Given the description of an element on the screen output the (x, y) to click on. 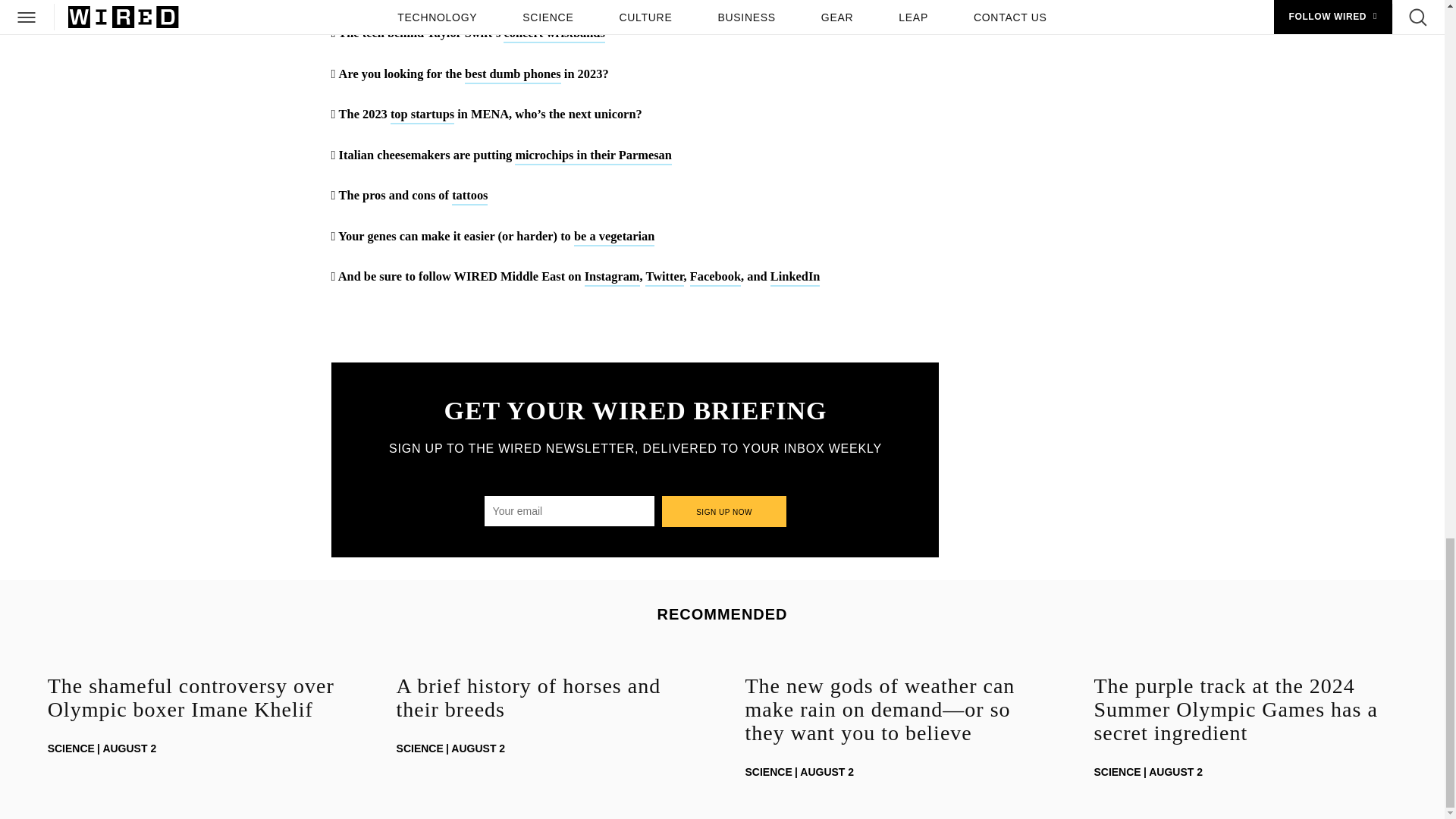
microchips in their Parmesan (593, 156)
be a vegetarian (614, 237)
top startups (422, 115)
Twitter (663, 277)
Instagram (612, 277)
Sign up now (724, 511)
tattoos (469, 196)
best dumb phones (512, 75)
concert wristbands (553, 34)
